Given the description of an element on the screen output the (x, y) to click on. 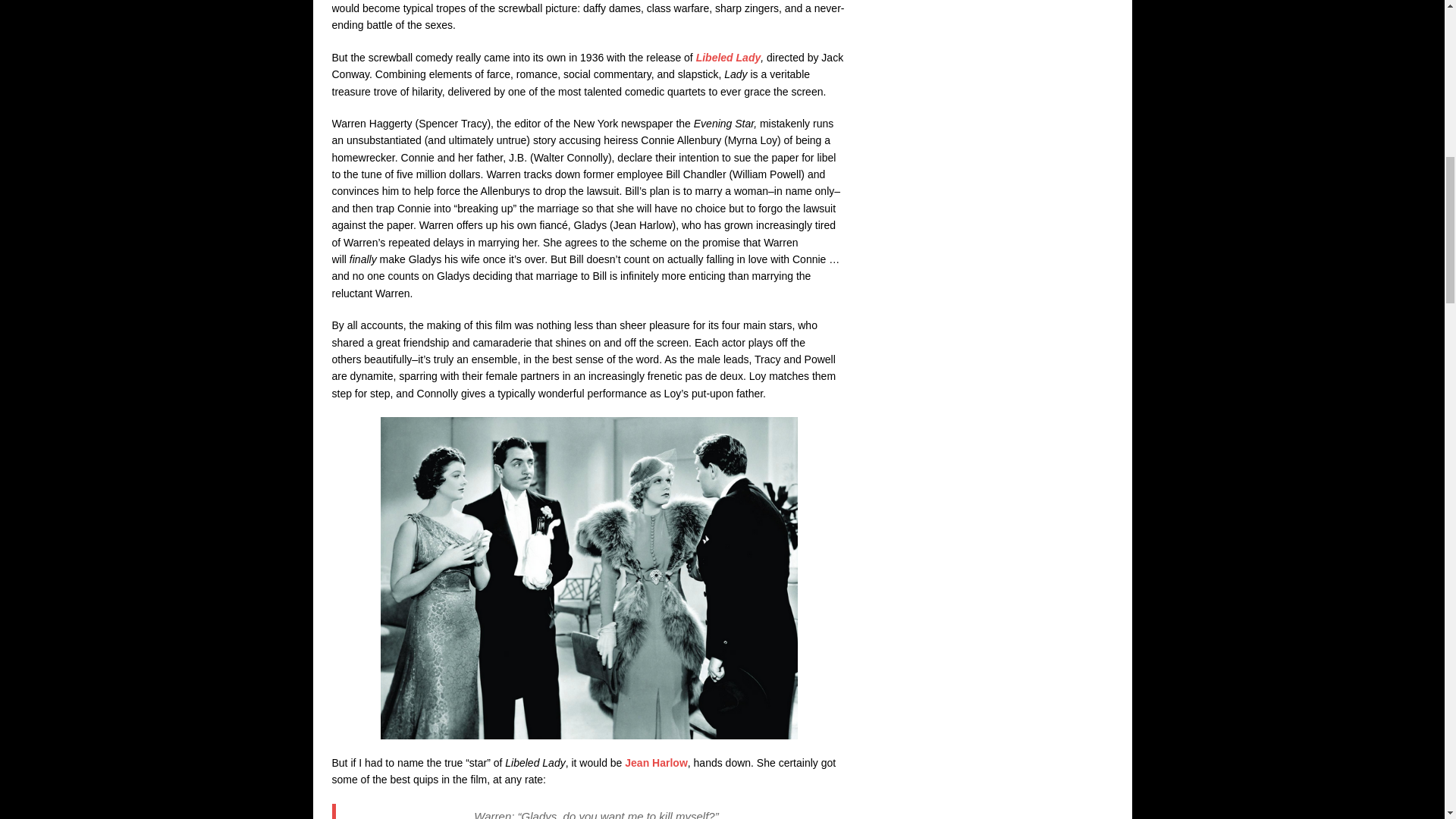
Libeled Lady (728, 57)
